Given the description of an element on the screen output the (x, y) to click on. 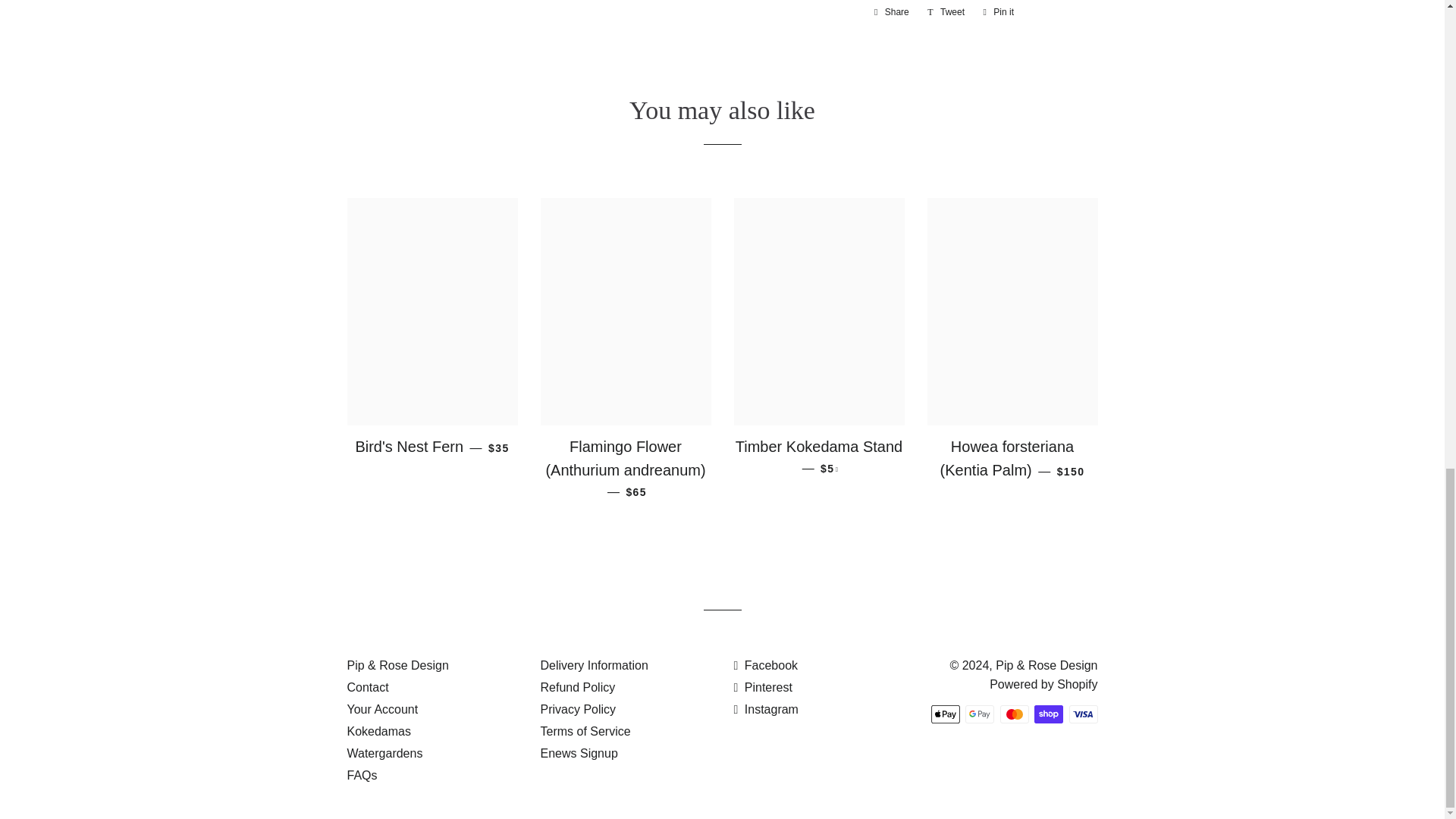
Pin on Pinterest (998, 12)
Shop Pay (1047, 714)
Mastercard (1012, 714)
Apple Pay (945, 714)
Tweet on Twitter (946, 12)
Google Pay (979, 714)
Visa (1082, 714)
Share on Facebook (891, 12)
